Given the description of an element on the screen output the (x, y) to click on. 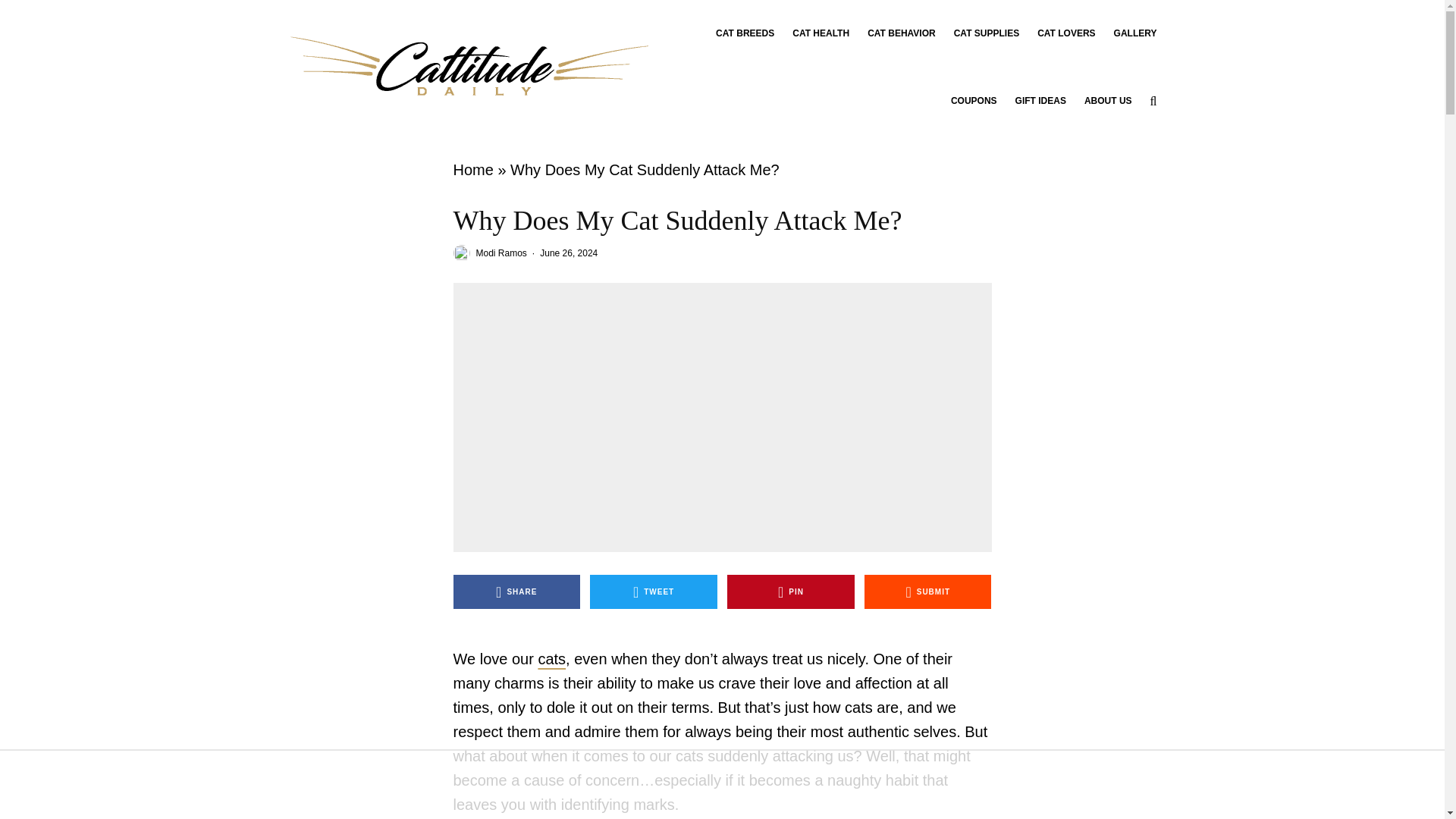
CAT HEALTH (821, 33)
CAT BREEDS (744, 33)
CAT BEHAVIOR (901, 33)
